Given the description of an element on the screen output the (x, y) to click on. 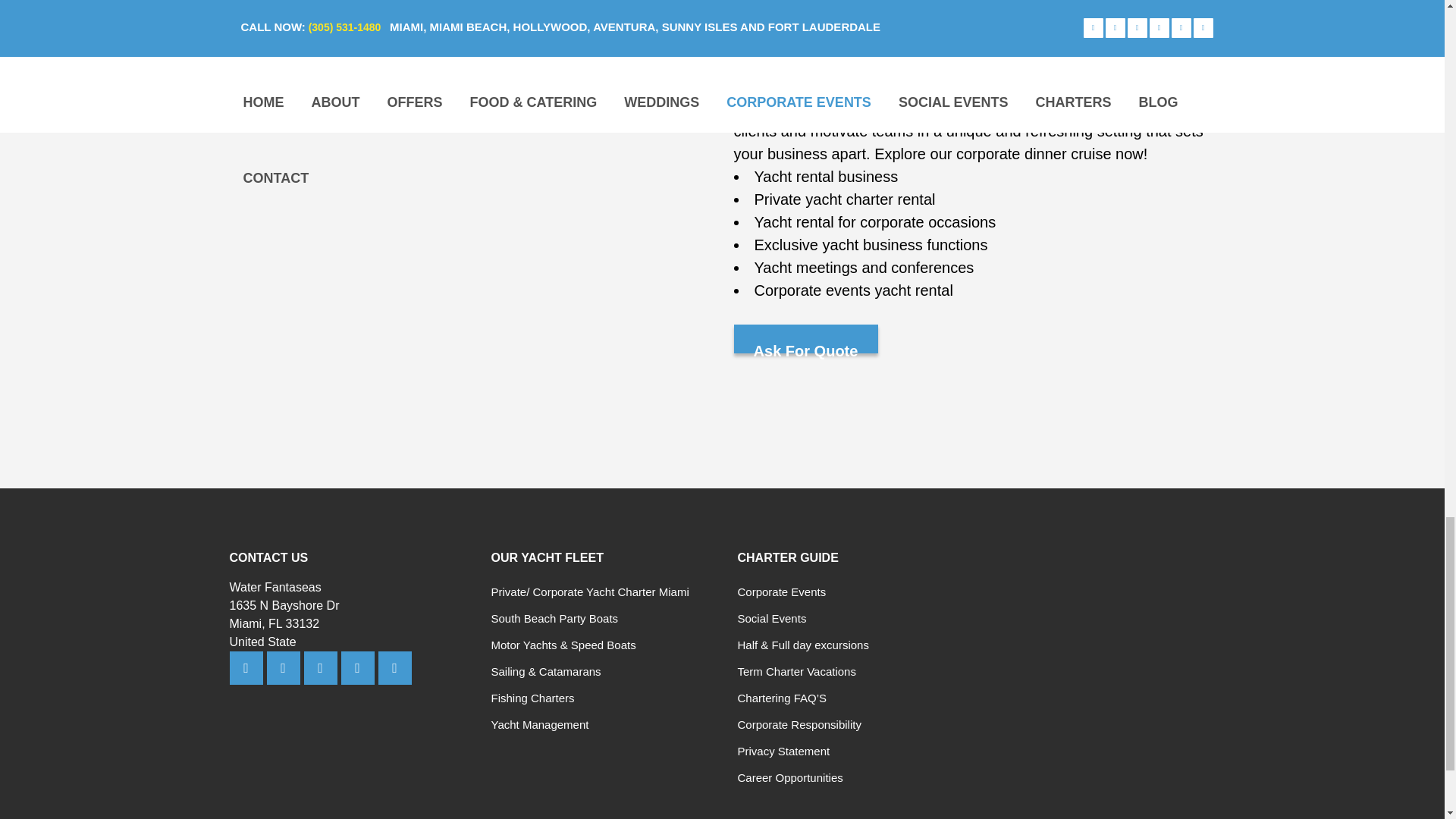
Fishing Charters (533, 697)
Corporate Events (780, 591)
Social Events (771, 617)
Ask For Quote (805, 338)
Term Charter Vacations (796, 671)
